Given the description of an element on the screen output the (x, y) to click on. 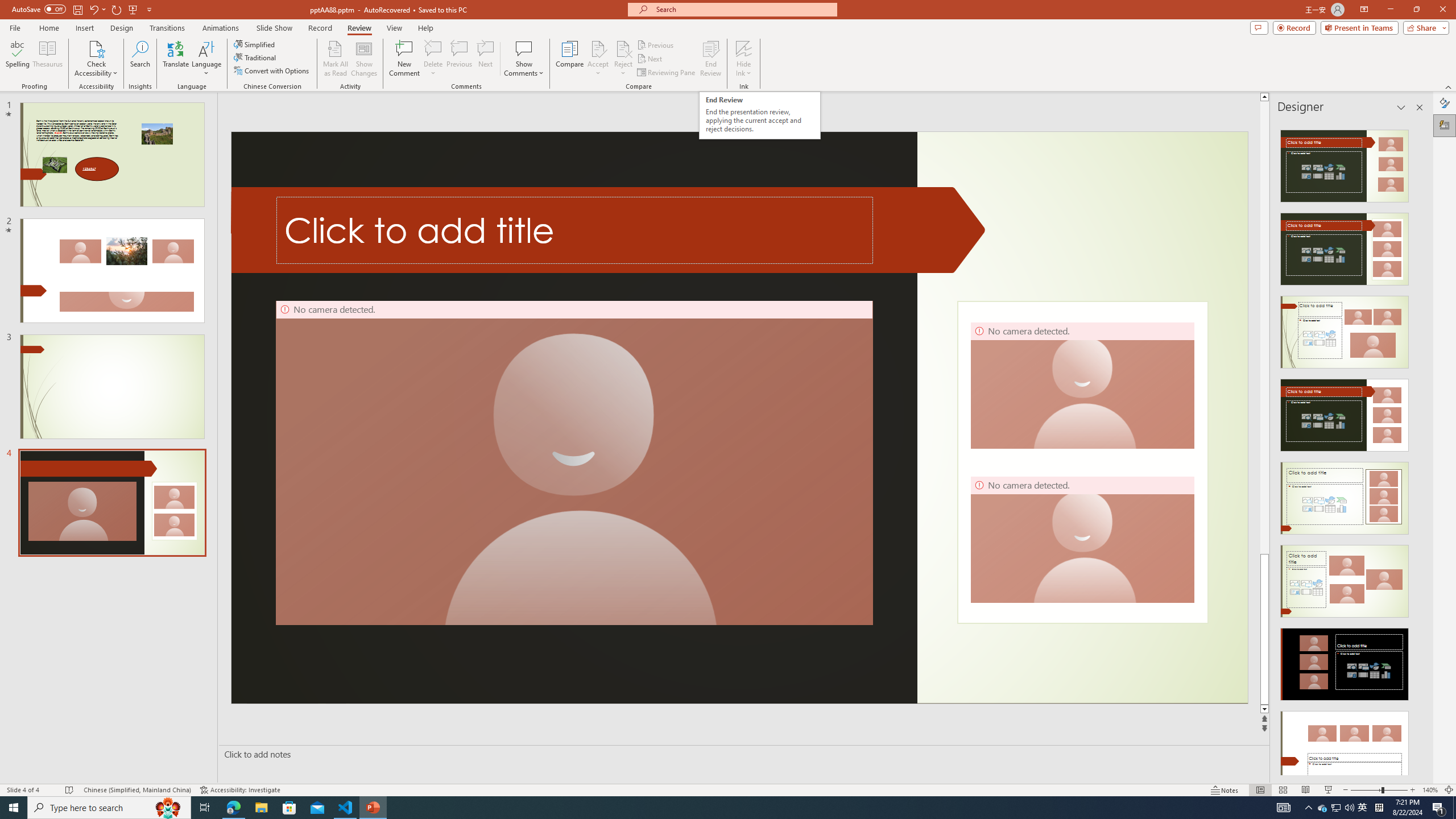
Reviewing Pane (666, 72)
Simplified (254, 44)
Accept Change (598, 48)
